Given the description of an element on the screen output the (x, y) to click on. 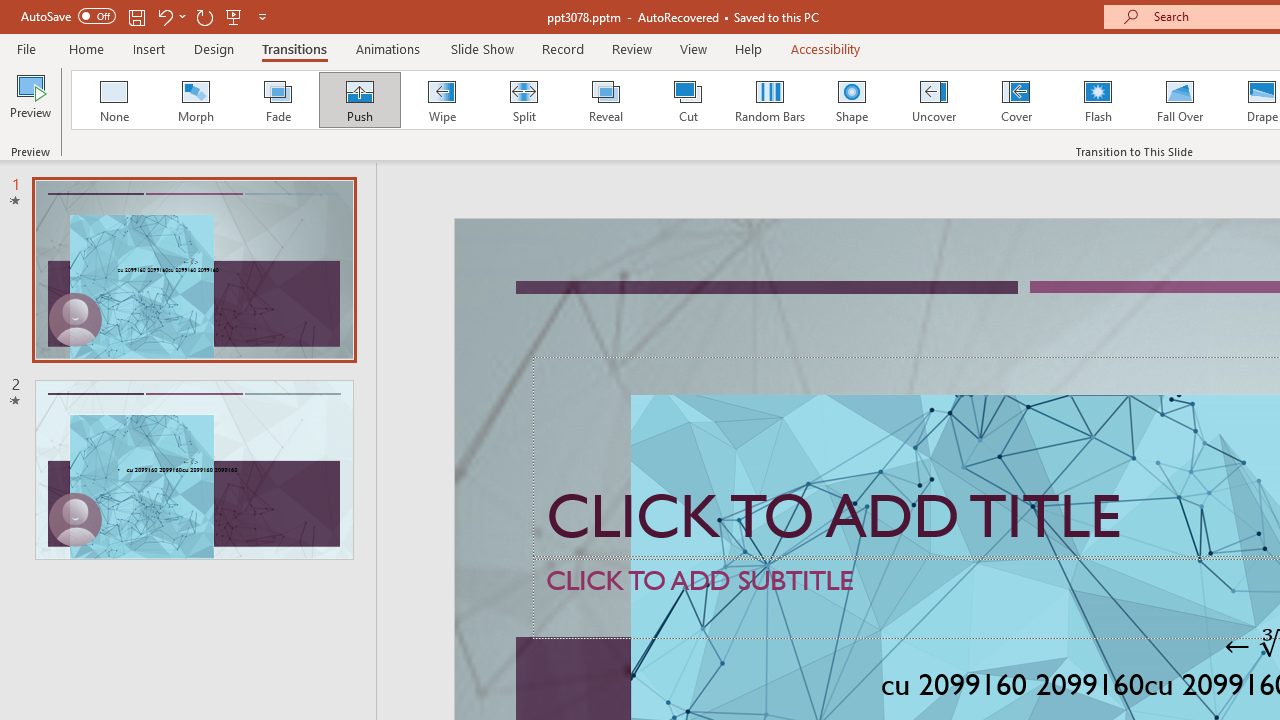
Morph (195, 100)
Customize Quick Access Toolbar (262, 15)
Wipe (441, 100)
Push (359, 100)
None (113, 100)
Insert (149, 48)
View (693, 48)
Uncover (934, 100)
Cover (1016, 100)
Transitions (294, 48)
Slide (194, 469)
Shape (852, 100)
